Given the description of an element on the screen output the (x, y) to click on. 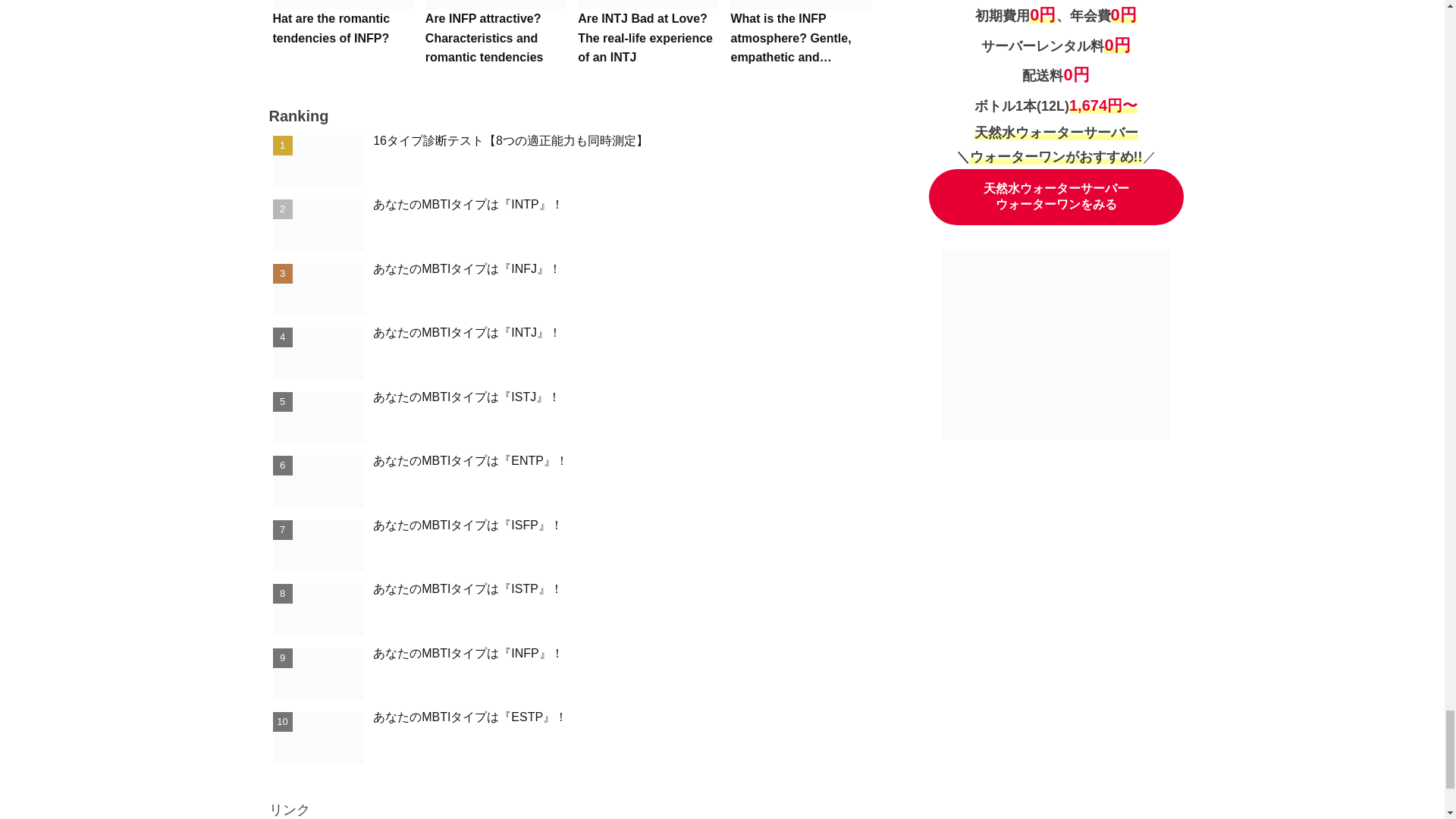
Are INTJ Bad at Love? The real-life experience of an INTJ (647, 37)
Are INFP attractive? Characteristics and romantic tendencies (496, 37)
Hat are the romantic tendencies of INFP? (341, 37)
Are INFP attractive? Characteristics and romantic tendencies (496, 37)
Are INTJ Bad at Love? The real-life experience of an INTJ (647, 37)
Hat are the romantic tendencies of INFP? (341, 37)
